Given the description of an element on the screen output the (x, y) to click on. 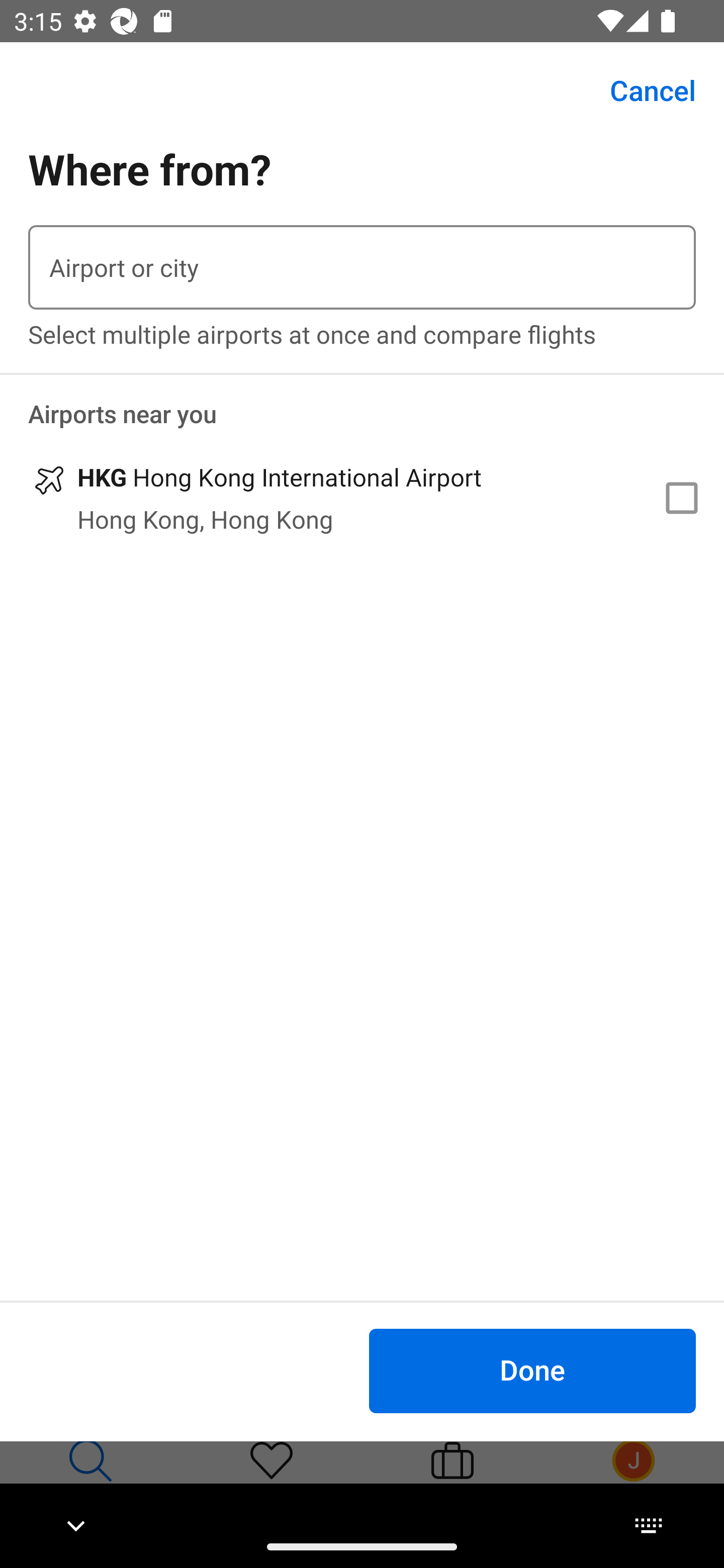
Cancel (641, 90)
Airport or city (361, 266)
Done (532, 1370)
